Given the description of an element on the screen output the (x, y) to click on. 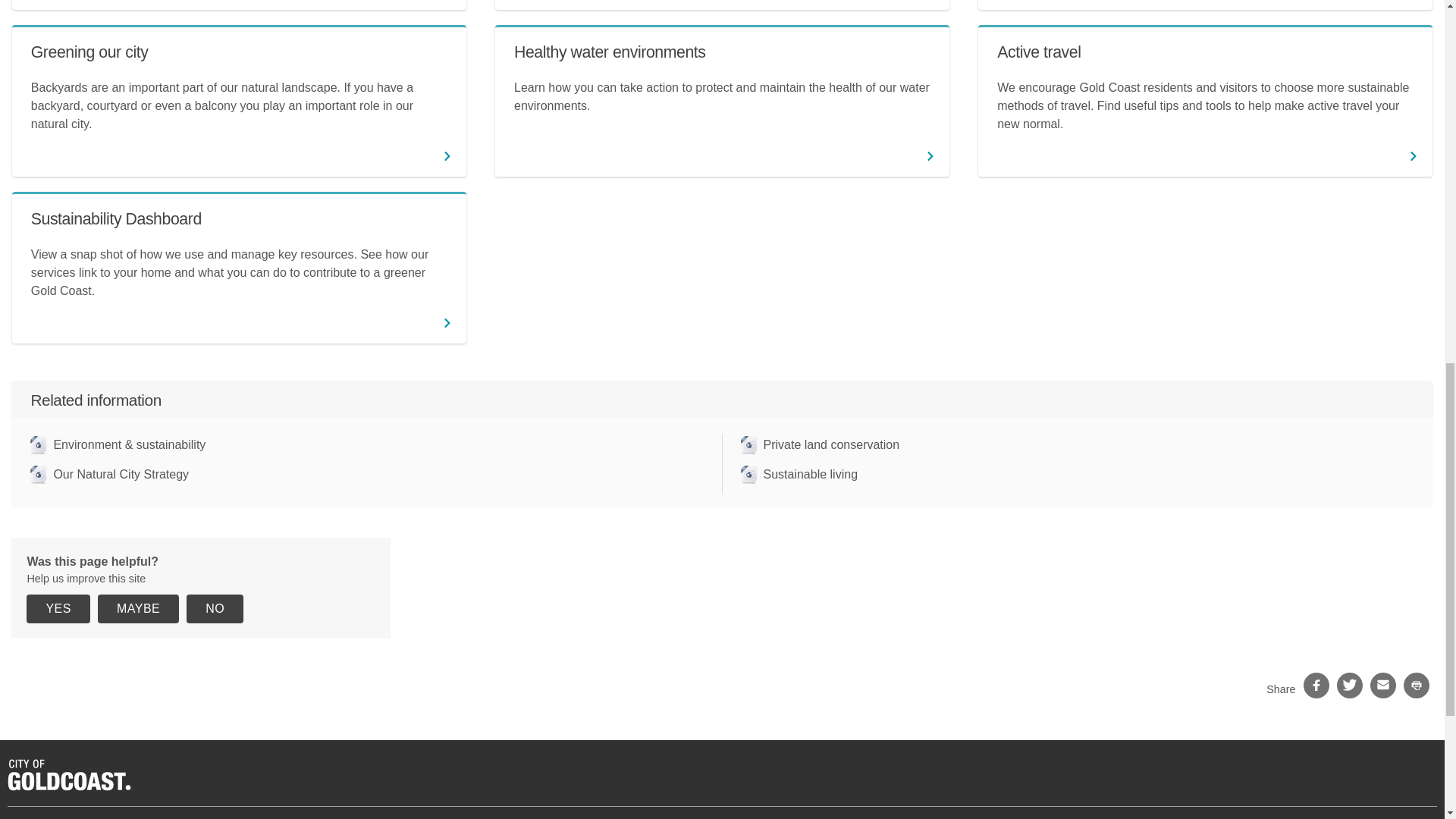
No, this page was not helpful (214, 608)
Maybe (138, 608)
Yes (58, 608)
Private land conservation (819, 444)
Yes, this page was helpful (58, 608)
Sustainable living (798, 474)
Our Natural City Strategy (109, 474)
No (214, 608)
